Given the description of an element on the screen output the (x, y) to click on. 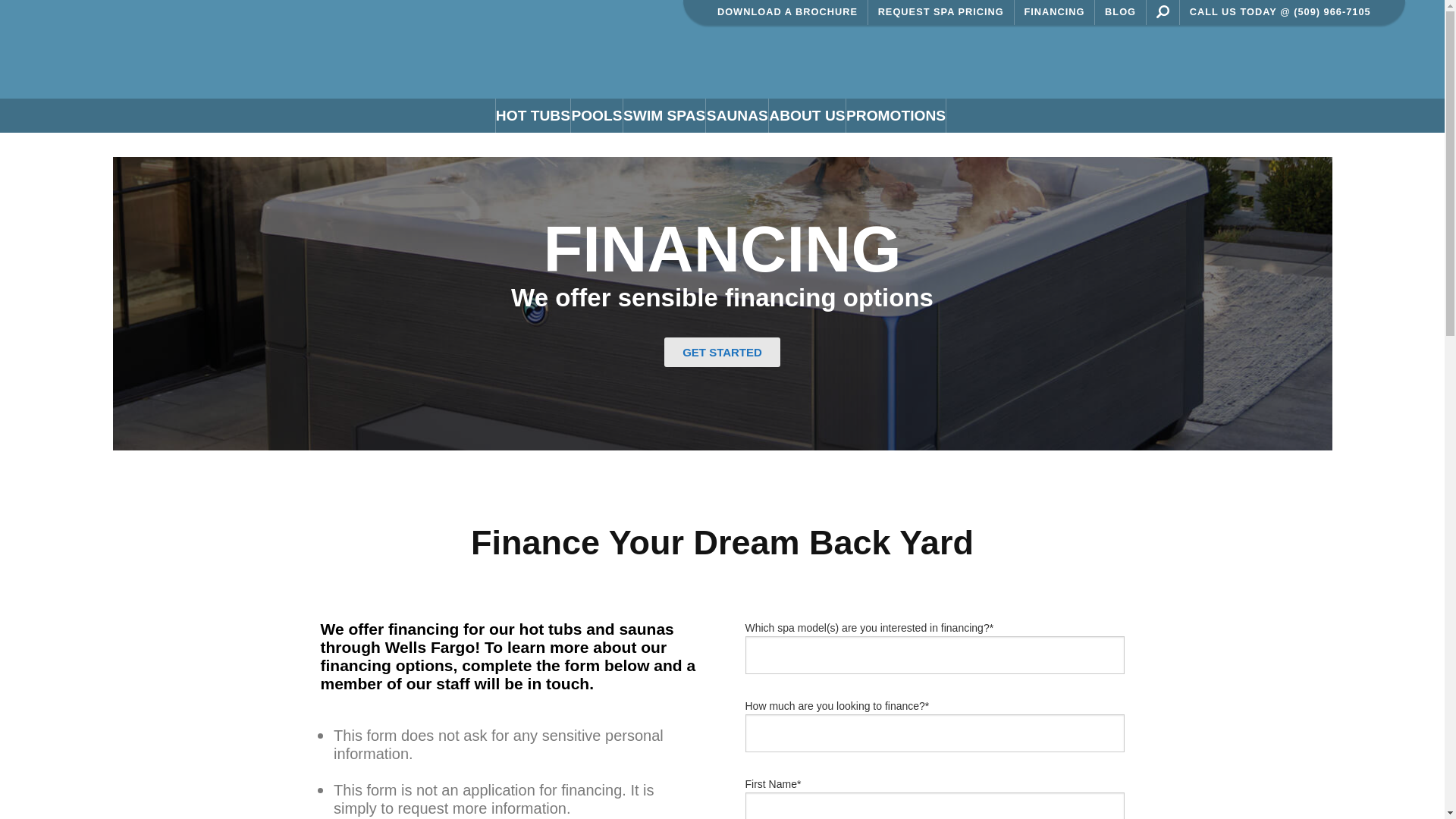
REQUEST SPA PRICING (940, 12)
HOT TUBS (532, 115)
SEARCH (1162, 11)
FINANCING (1055, 12)
DOWNLOAD A BROCHURE (787, 12)
BLOG (1120, 12)
